Given the description of an element on the screen output the (x, y) to click on. 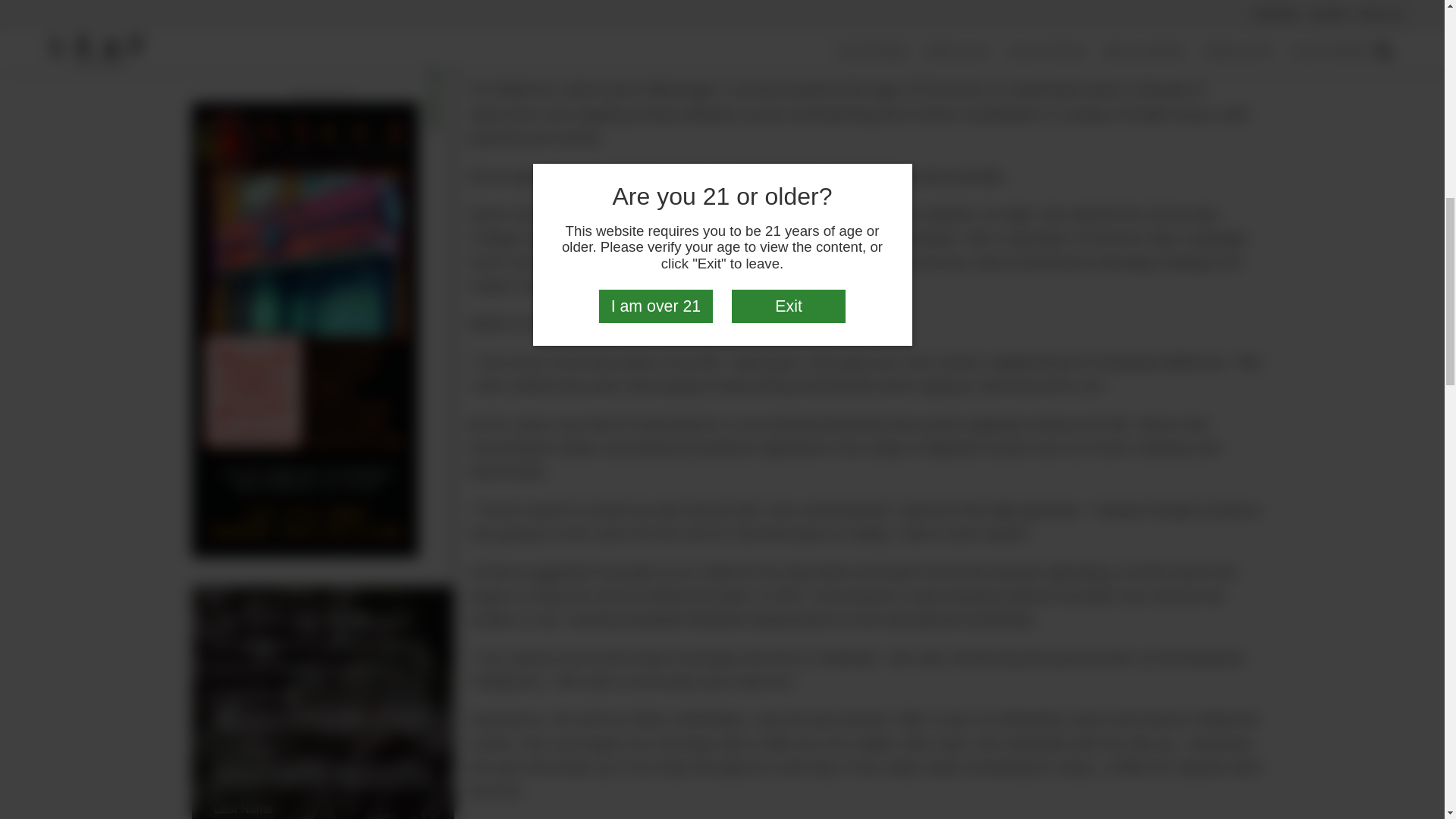
PROFILES (433, 18)
MARYLAND (433, 89)
